Given the description of an element on the screen output the (x, y) to click on. 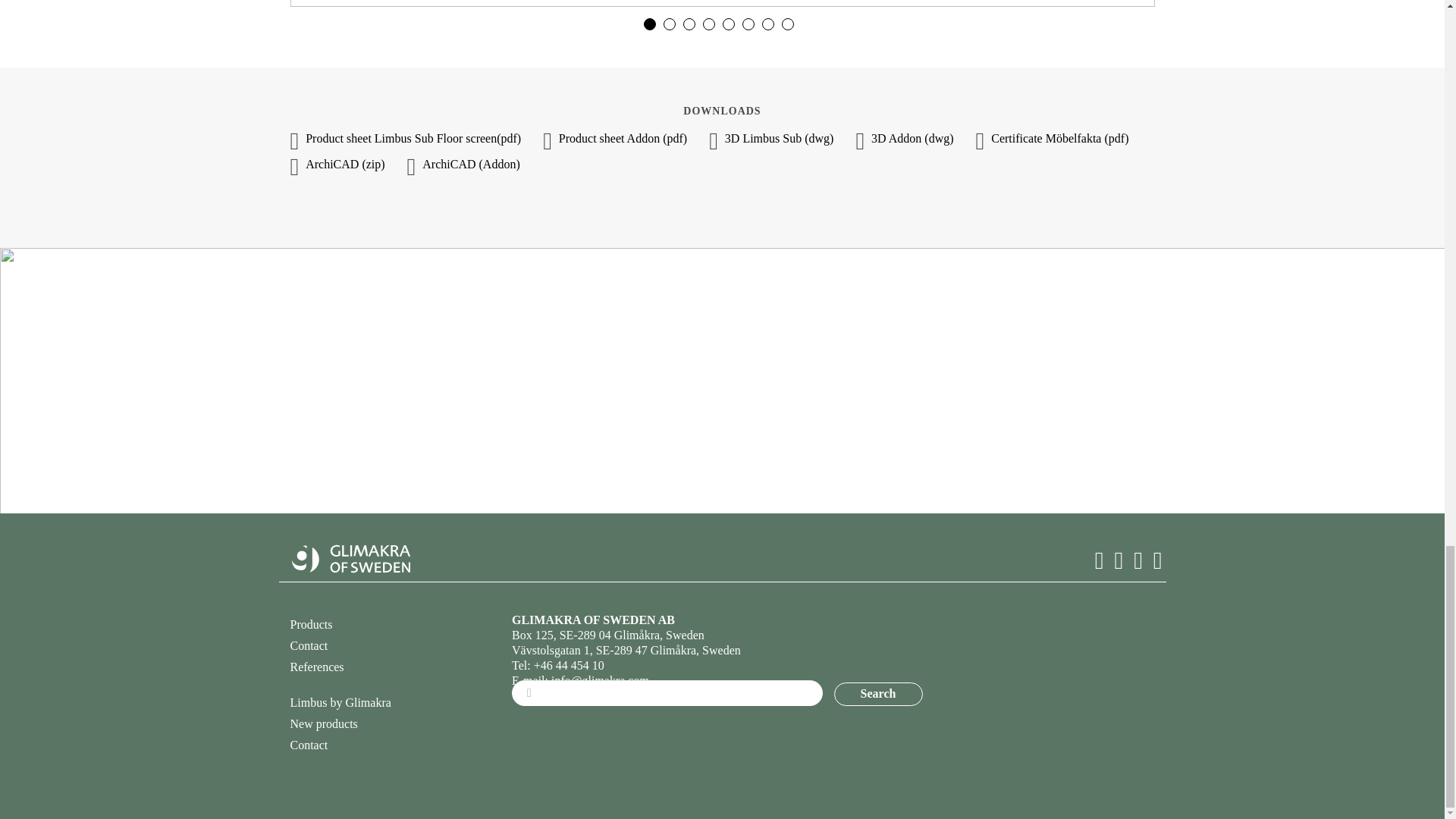
Contact me (721, 444)
Search (878, 693)
Products (310, 624)
